Given the description of an element on the screen output the (x, y) to click on. 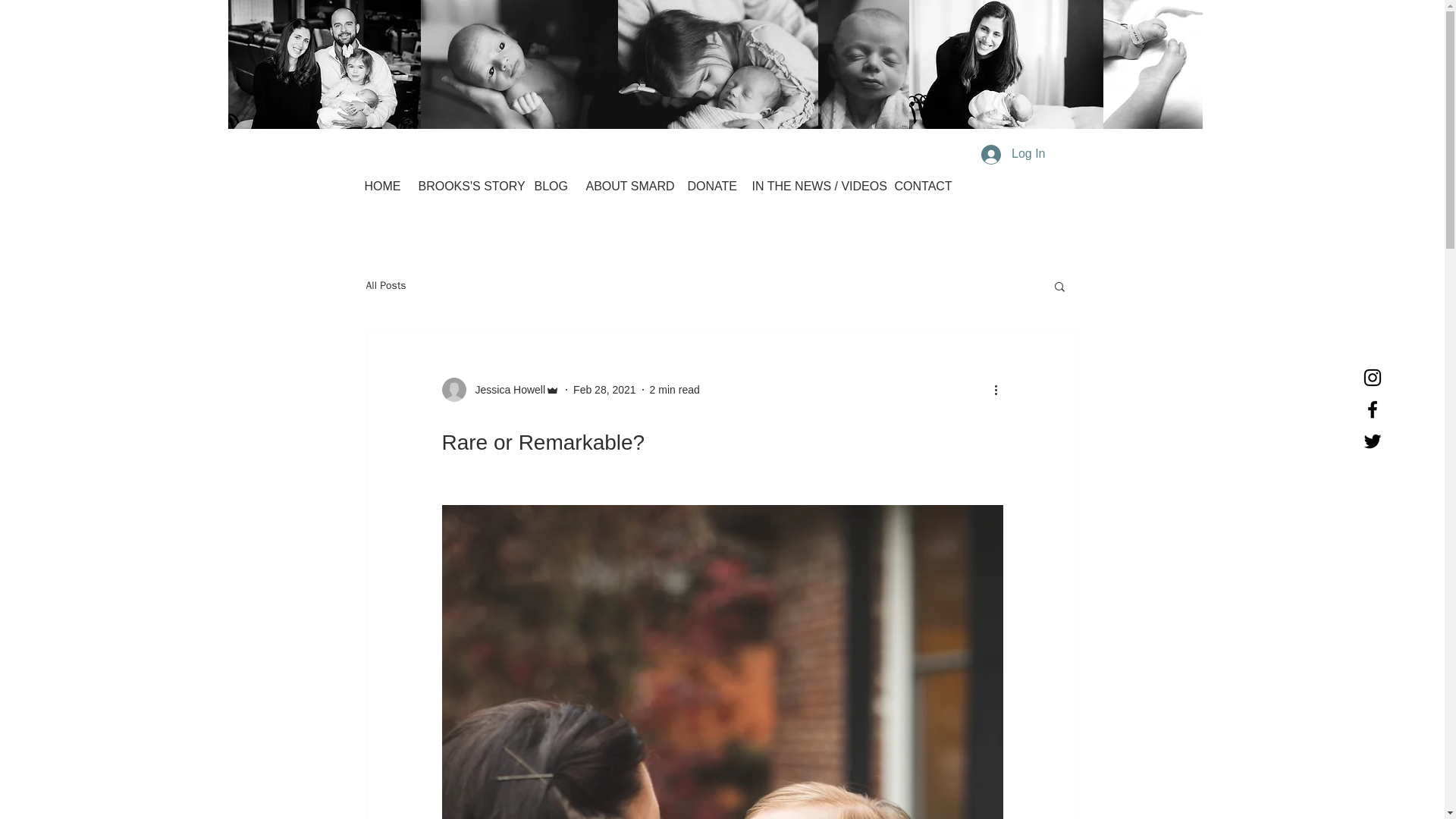
Feb 28, 2021 (604, 389)
All Posts (385, 285)
2 min read (674, 389)
Log In (1013, 153)
DONATE (709, 186)
BROOKS'S STORY (464, 186)
Jessica Howell (500, 389)
HOME (380, 186)
Jessica Howell (504, 390)
ABOUT SMARD (626, 186)
